Given the description of an element on the screen output the (x, y) to click on. 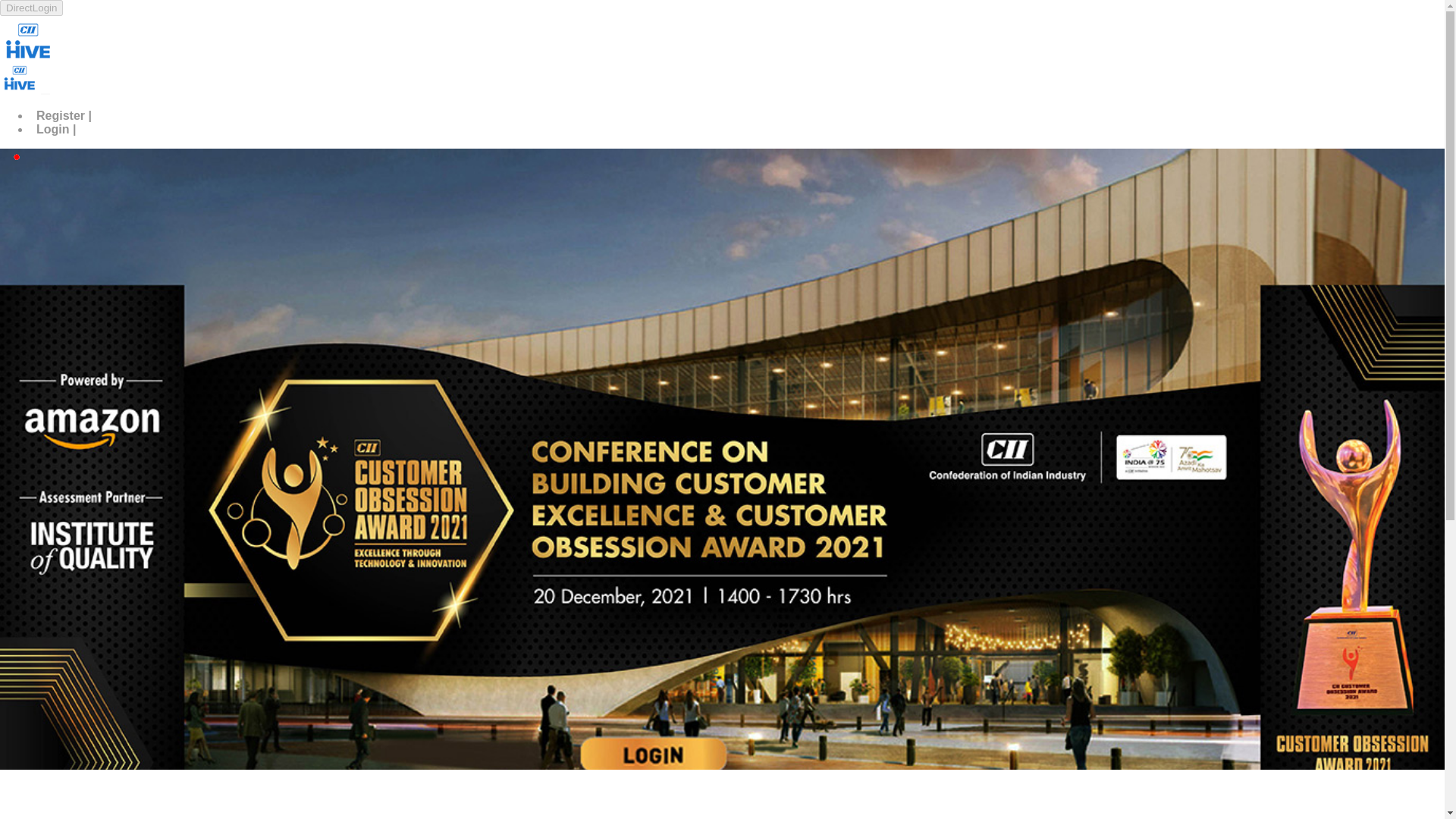
Amazon (74, 794)
DirectLogin (31, 7)
